Given the description of an element on the screen output the (x, y) to click on. 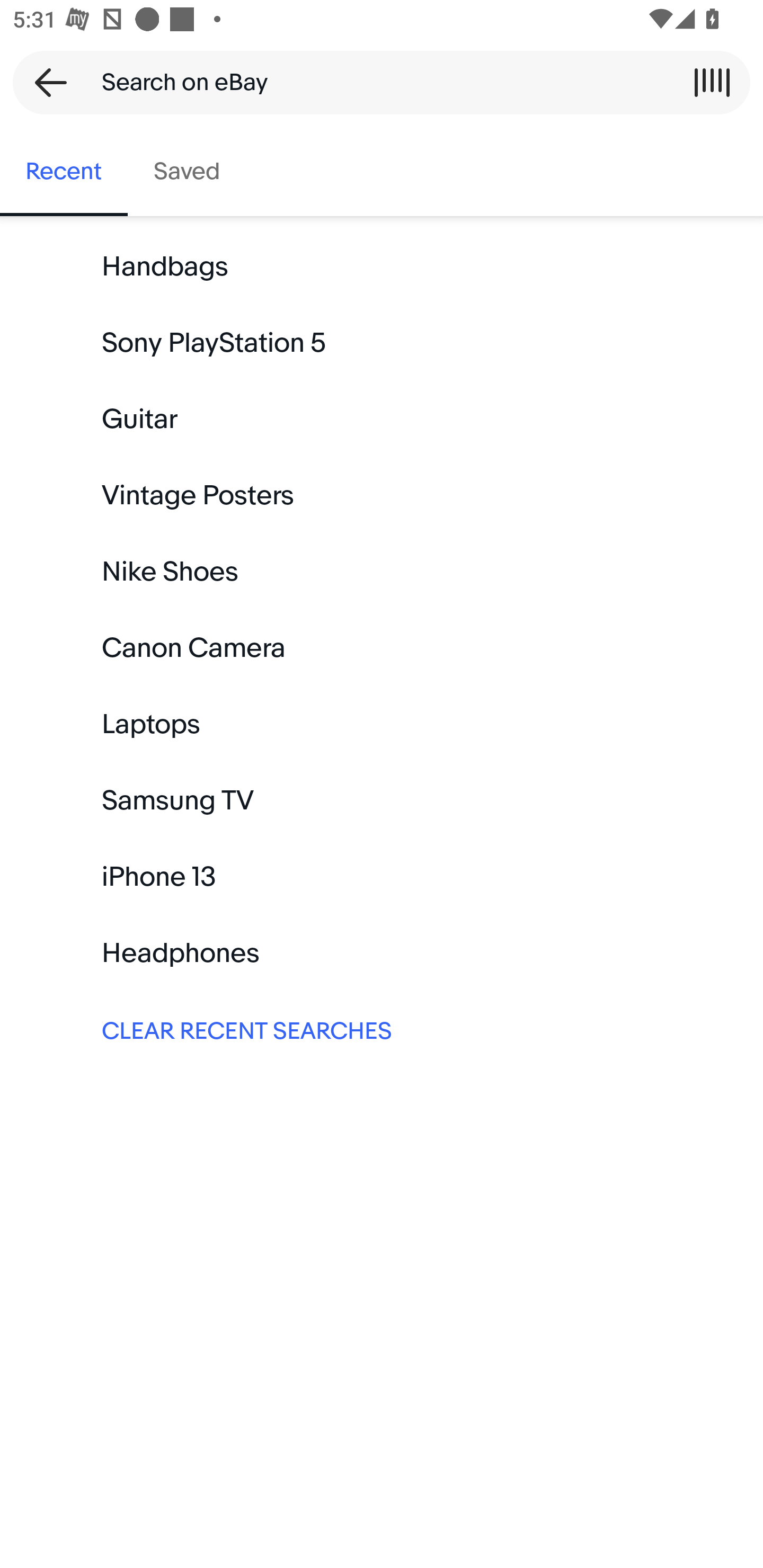
Back (44, 82)
Scan a barcode (711, 82)
Search on eBay (375, 82)
Saved, tab 2 of 2 Saved (186, 171)
Handbags Keyword search Handbags: (381, 266)
Guitar Keyword search Guitar: (381, 419)
Vintage Posters Keyword search Vintage Posters: (381, 495)
Nike Shoes Keyword search Nike Shoes: (381, 571)
Canon Camera Keyword search Canon Camera: (381, 647)
Laptops Keyword search Laptops: (381, 724)
Samsung TV Keyword search Samsung TV: (381, 800)
iPhone 13 Keyword search iPhone 13: (381, 876)
Headphones Keyword search Headphones: (381, 952)
CLEAR RECENT SEARCHES (381, 1028)
